Given the description of an element on the screen output the (x, y) to click on. 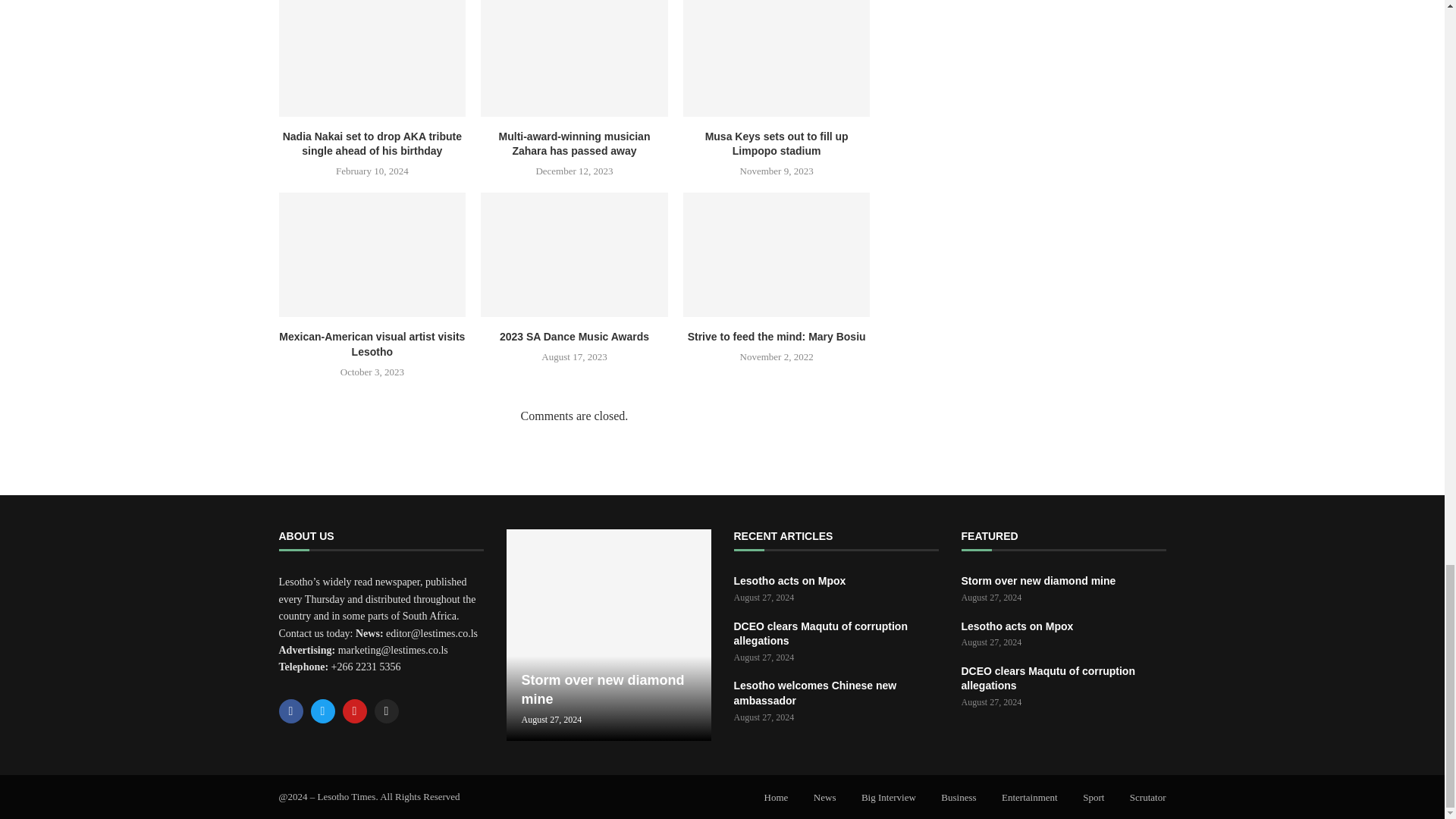
Strive to feed the mind: Mary Bosiu (776, 254)
Multi-award-winning musician Zahara has passed away (574, 58)
2023 SA Dance Music Awards (574, 254)
Mexican-American visual artist visits Lesotho (372, 254)
Musa Keys sets out to fill up Limpopo stadium (776, 58)
